Given the description of an element on the screen output the (x, y) to click on. 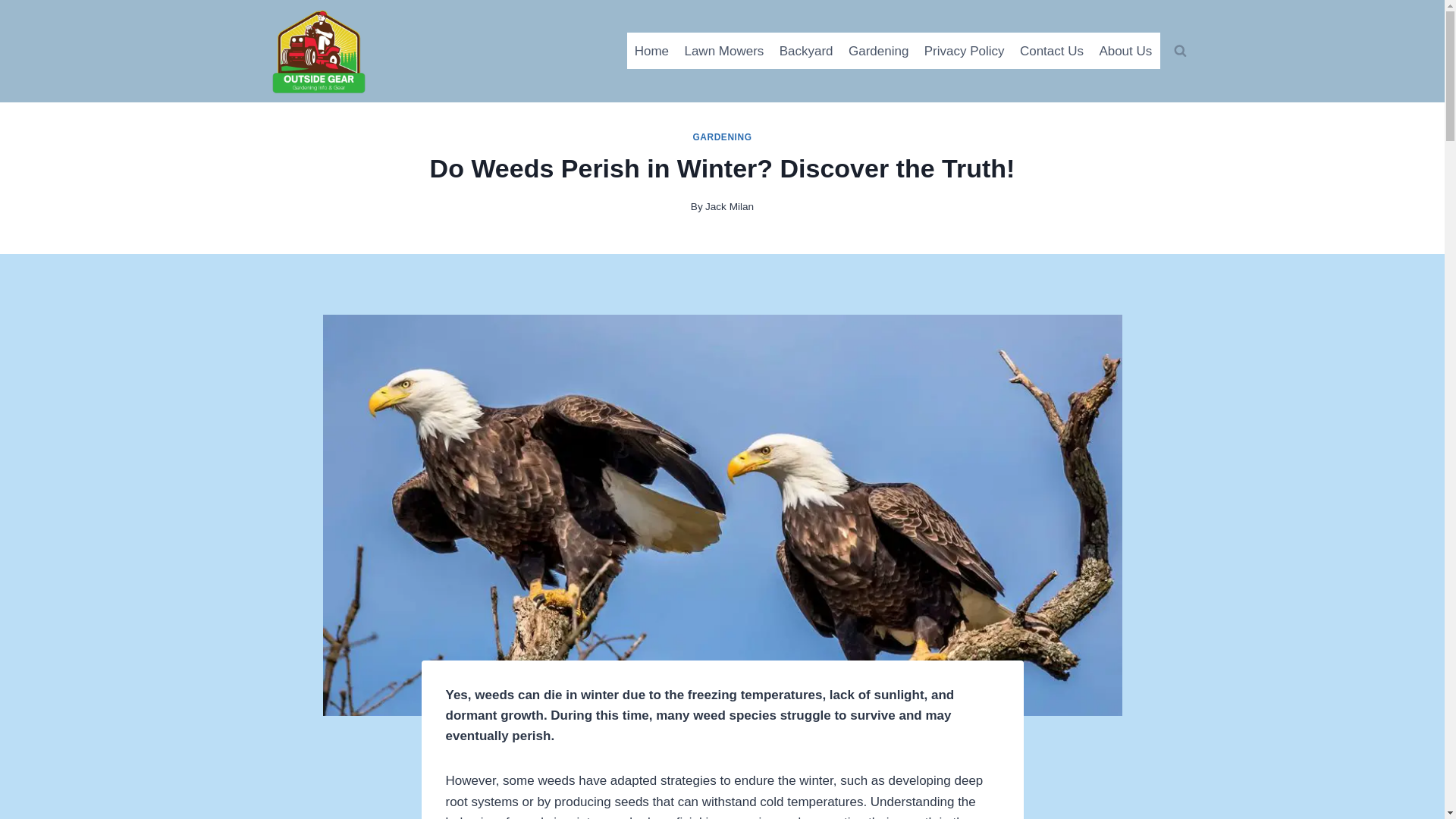
Lawn Mowers (724, 50)
Contact Us (1050, 50)
Home (652, 50)
About Us (1124, 50)
GARDENING (722, 136)
Privacy Policy (964, 50)
Backyard (806, 50)
Jack Milan (729, 206)
Gardening (879, 50)
